Given the description of an element on the screen output the (x, y) to click on. 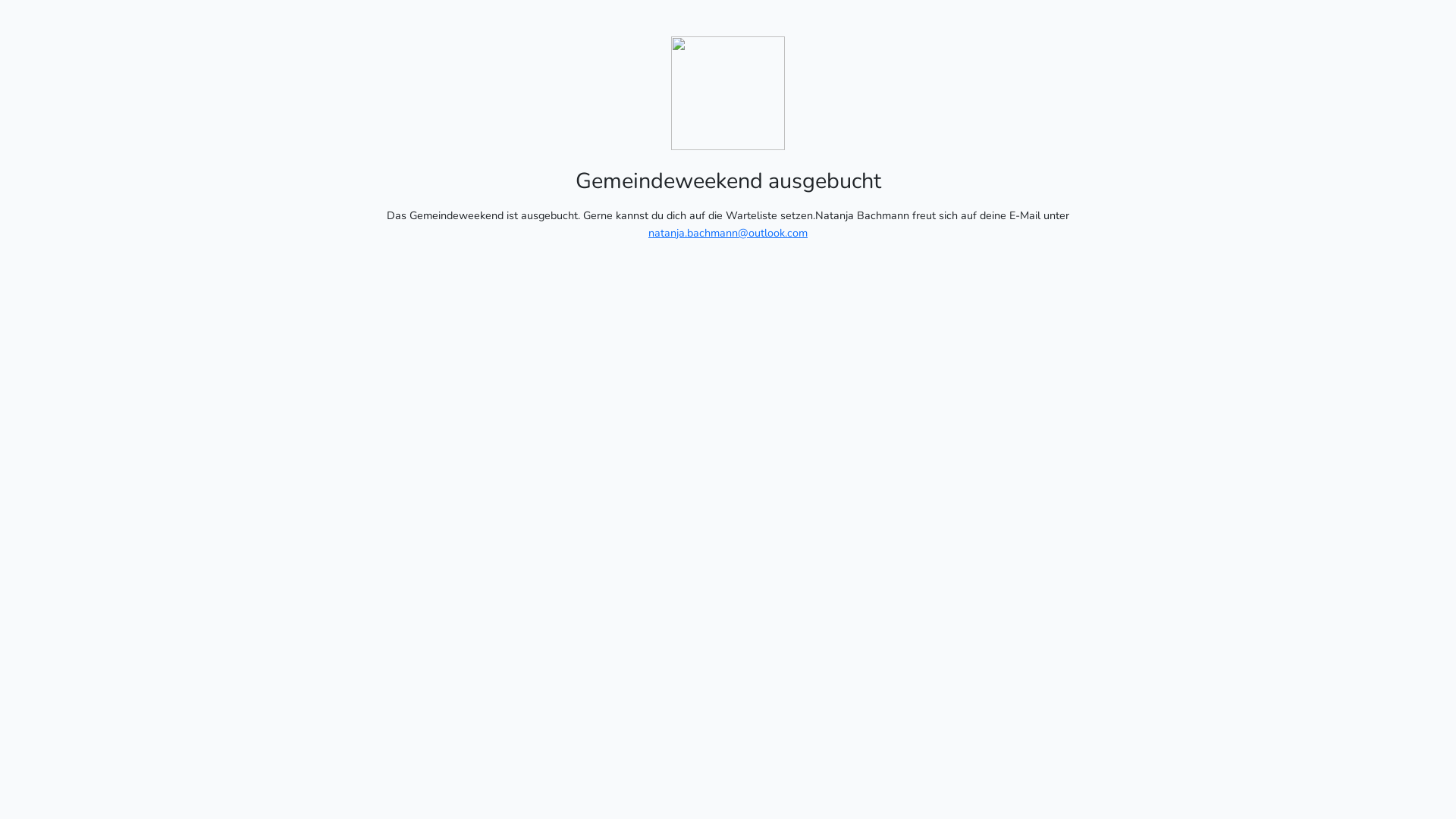
natanja.bachmann@outlook.com Element type: text (727, 232)
